Given the description of an element on the screen output the (x, y) to click on. 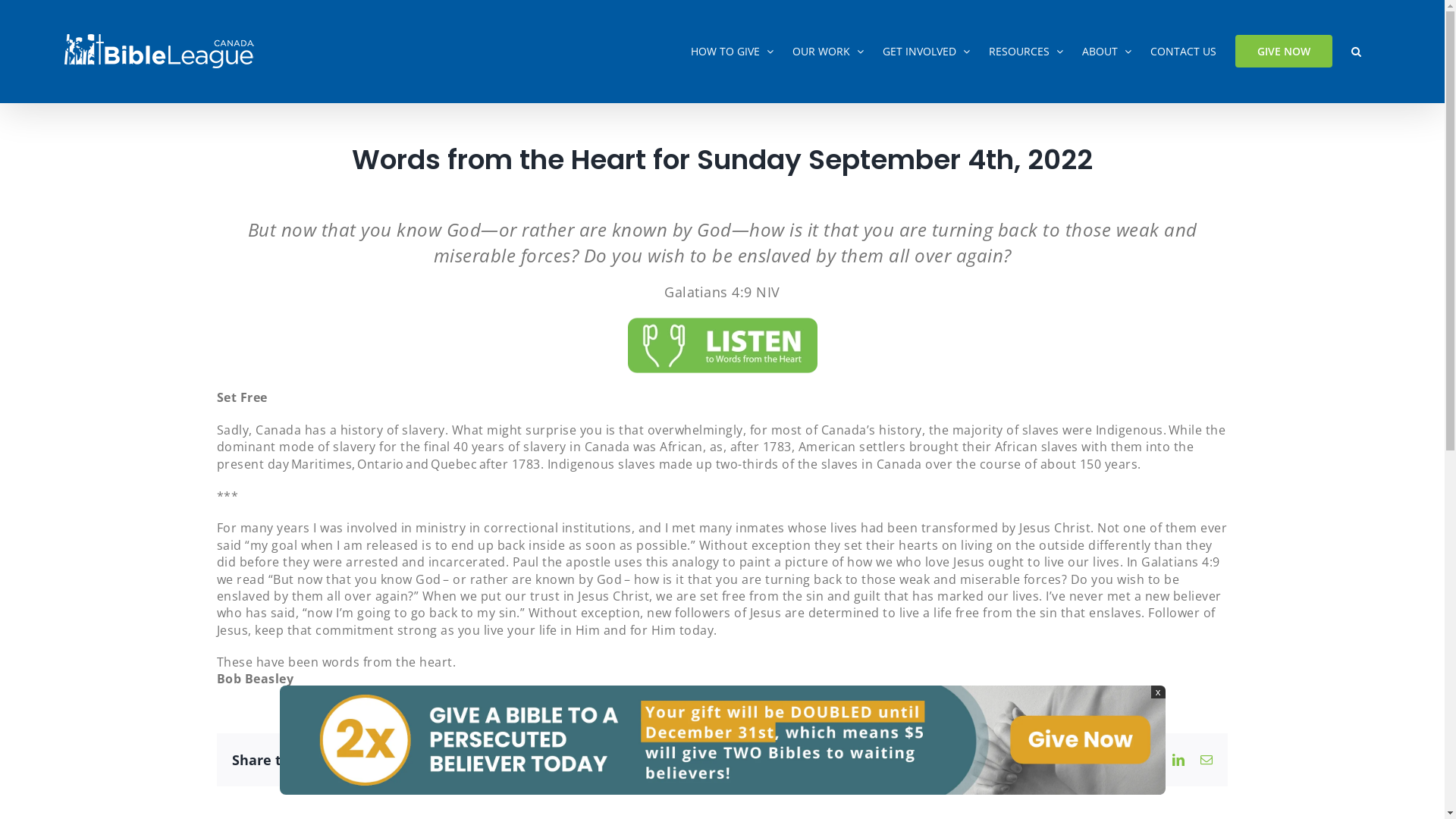
ABOUT Element type: text (1106, 51)
Email Element type: text (1206, 759)
Facebook Element type: text (1123, 759)
HOW TO GIVE Element type: text (731, 51)
LinkedIn Element type: text (1178, 759)
OUR WORK Element type: text (827, 51)
GET INVOLVED Element type: text (925, 51)
RESOURCES Element type: text (1025, 51)
x Element type: text (1158, 691)
GIVE NOW Element type: text (1283, 51)
CONTACT US Element type: text (1183, 51)
Twitter Element type: text (1151, 759)
Search Element type: hover (1356, 51)
